Given the description of an element on the screen output the (x, y) to click on. 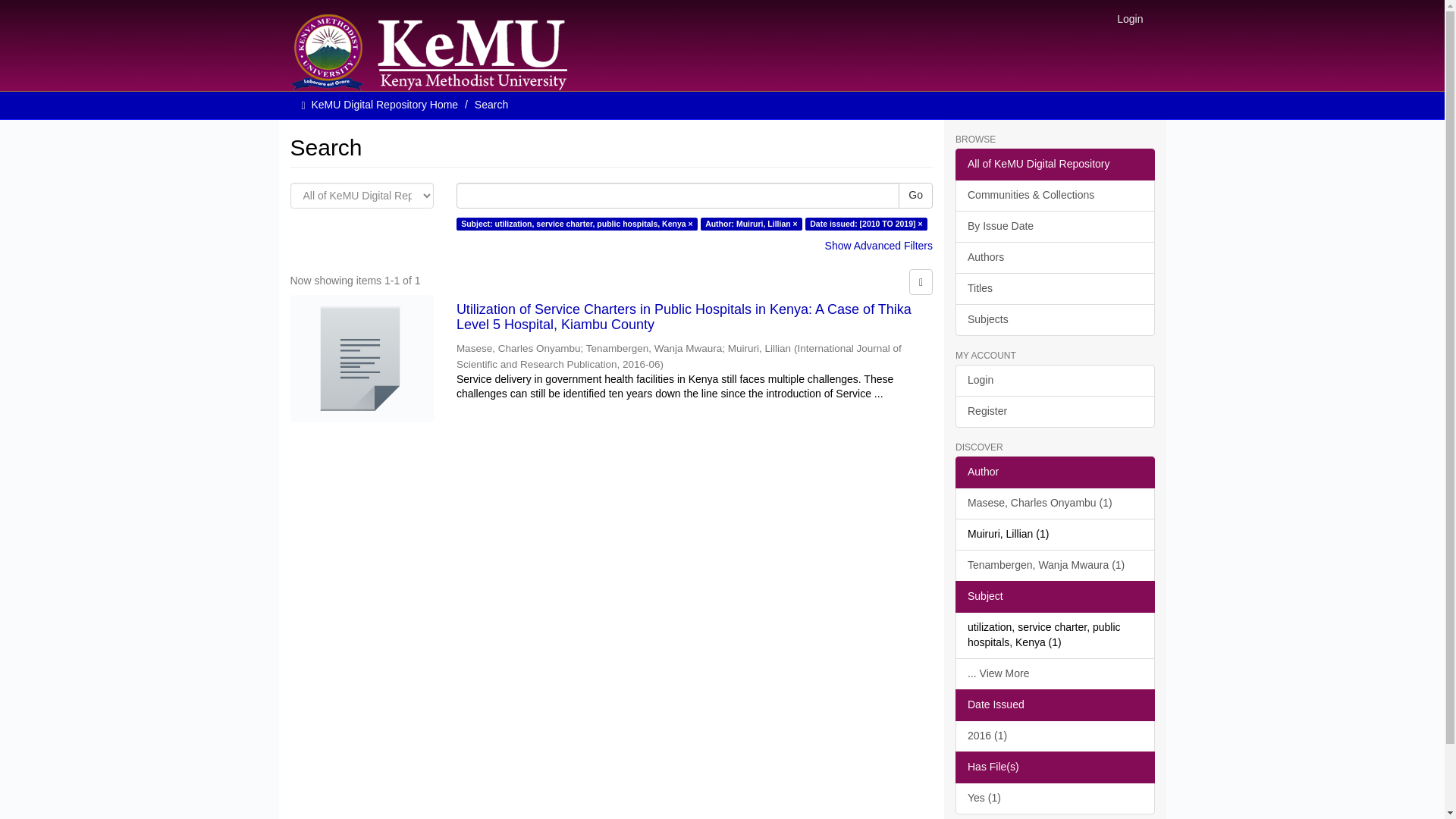
KeMU Digital Repository Home (384, 104)
Login (1129, 18)
Show Advanced Filters (879, 245)
Go (915, 195)
